Given the description of an element on the screen output the (x, y) to click on. 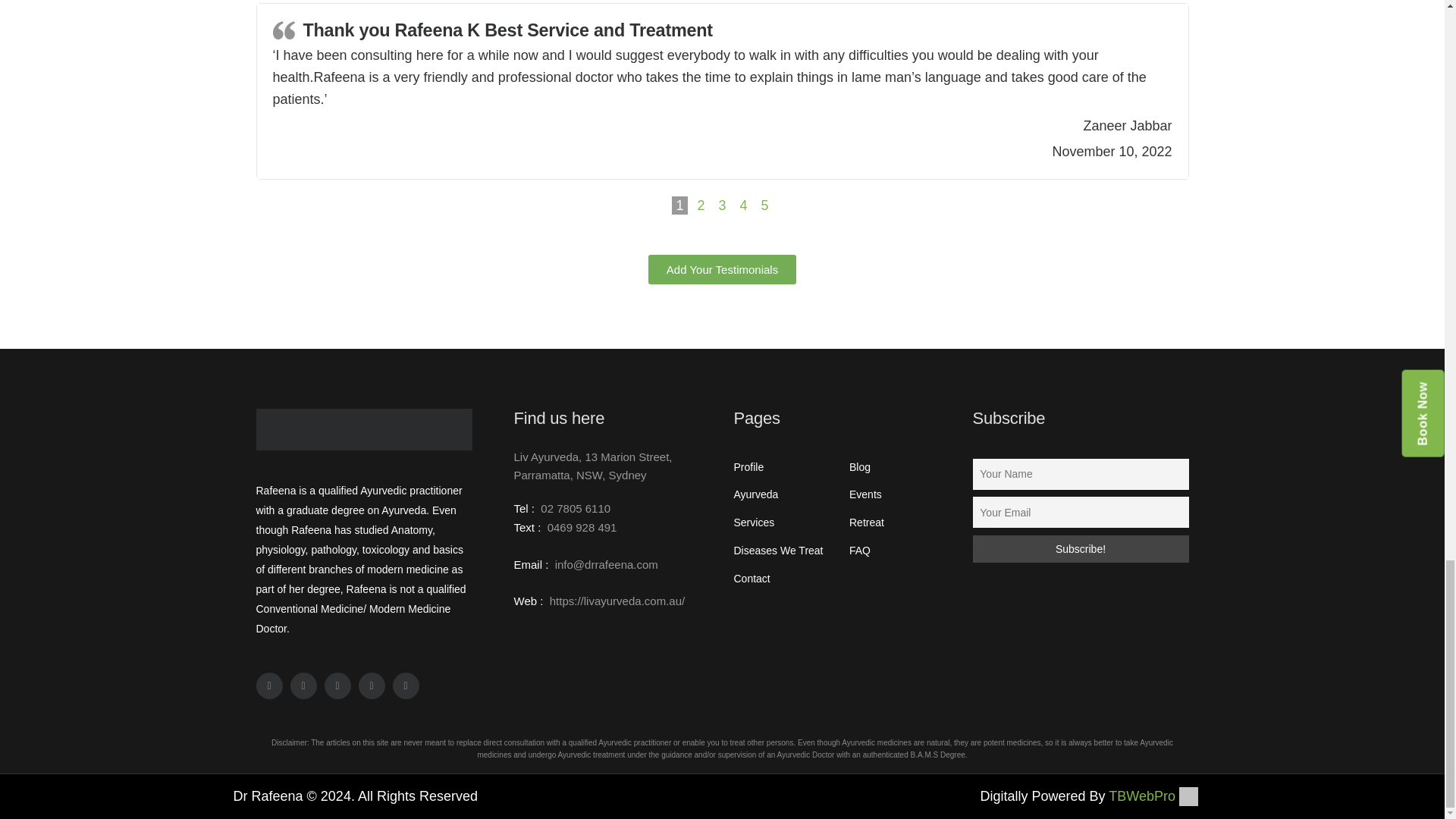
Subscribe! (1080, 548)
linkedin (337, 685)
pinterest (406, 685)
instagram (371, 685)
facebook (269, 685)
twitter (302, 685)
